Given the description of an element on the screen output the (x, y) to click on. 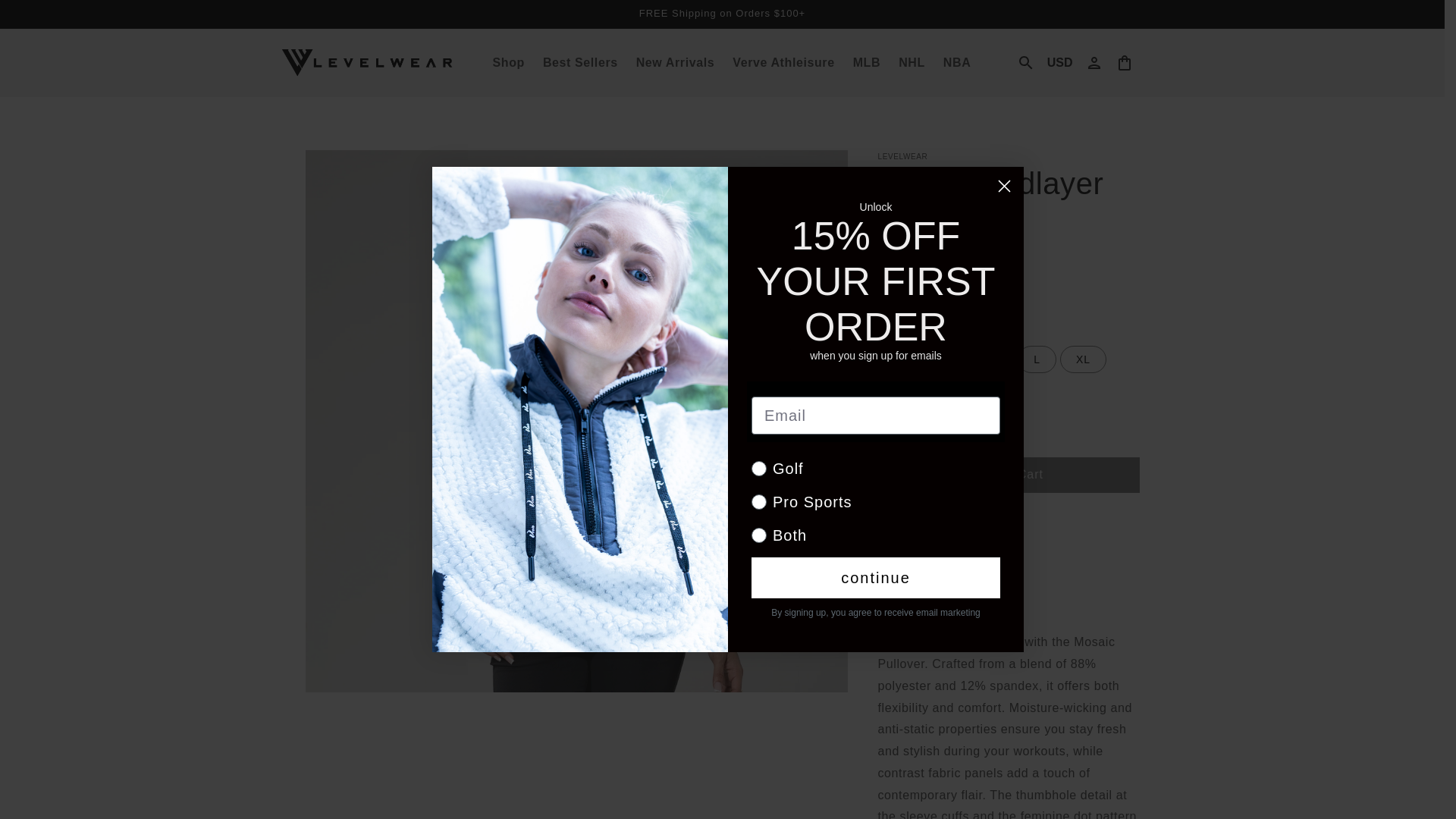
Best Sellers (580, 62)
on (756, 521)
New Arrivals (675, 62)
1 (931, 429)
on (756, 488)
Find your size (952, 322)
MLB (866, 62)
Language (1059, 62)
Close dialog 1 (1004, 185)
Verve Athleisure (783, 62)
on (756, 454)
Shop (508, 62)
